Given the description of an element on the screen output the (x, y) to click on. 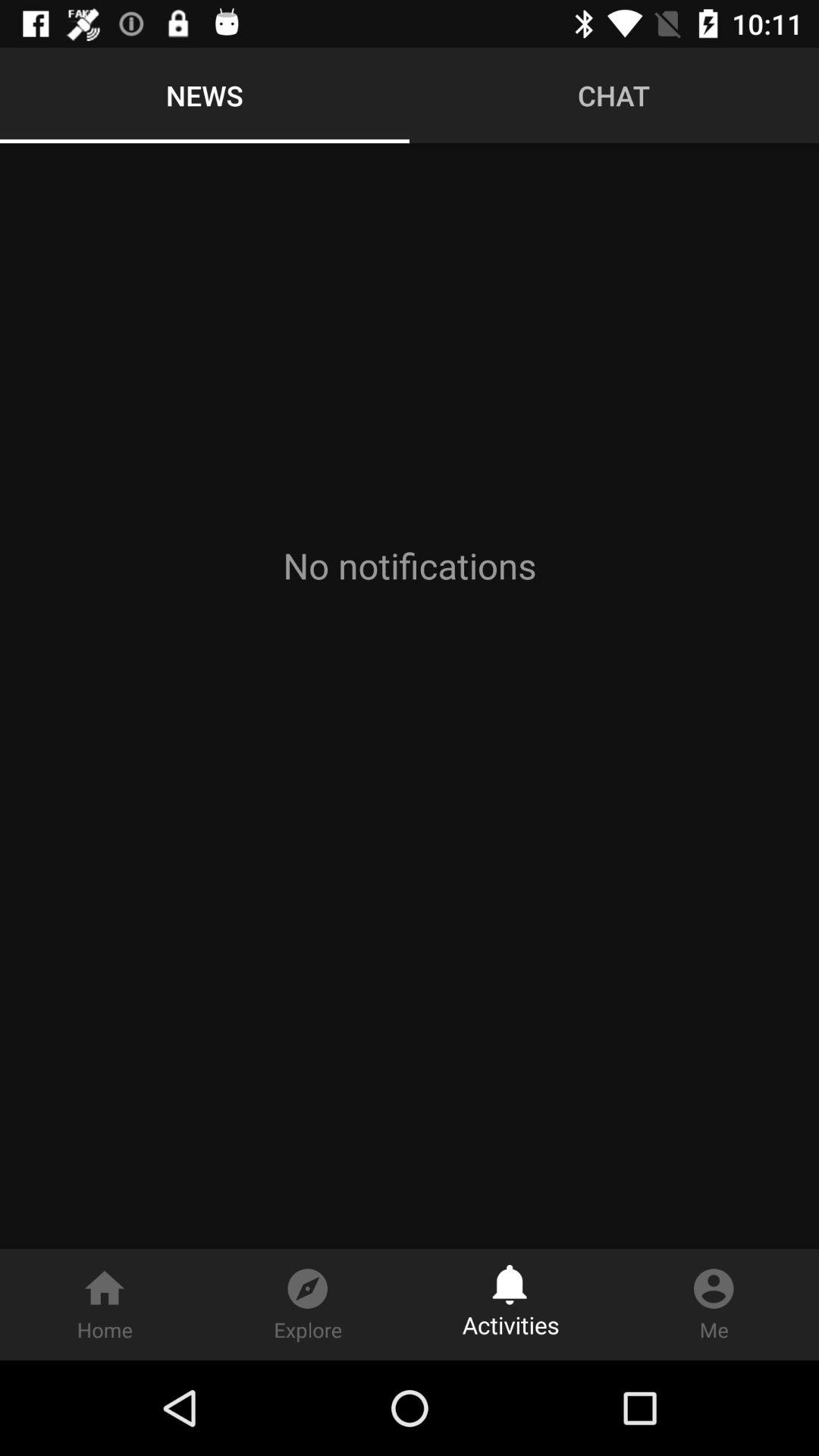
click on the bell icon (510, 1278)
select symbol above explore (307, 1281)
go to symbol home in news option (105, 1304)
click on the icon right of bell icon (713, 1281)
